Given the description of an element on the screen output the (x, y) to click on. 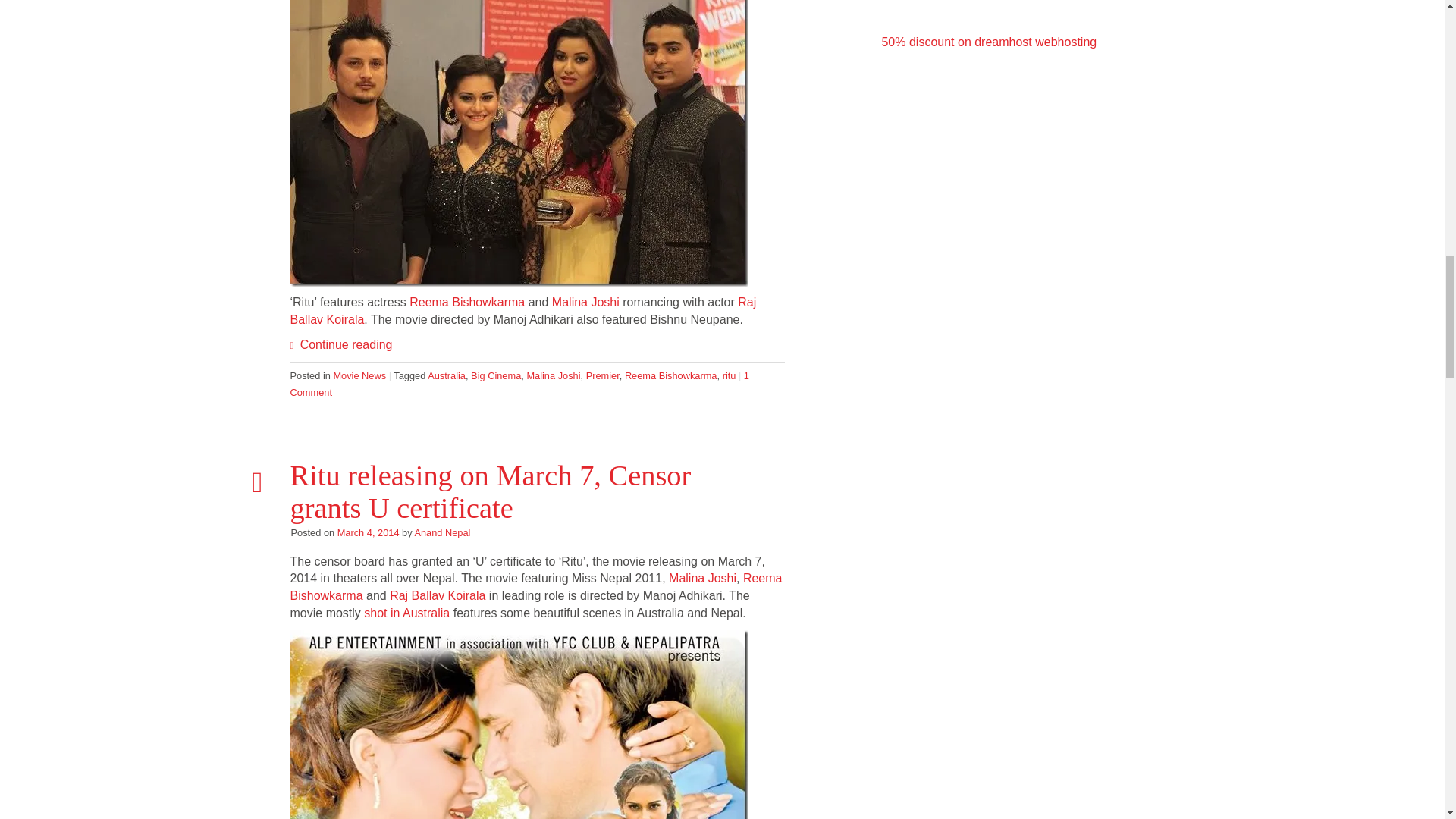
ritu premier apil bista reema and malina (518, 143)
